Given the description of an element on the screen output the (x, y) to click on. 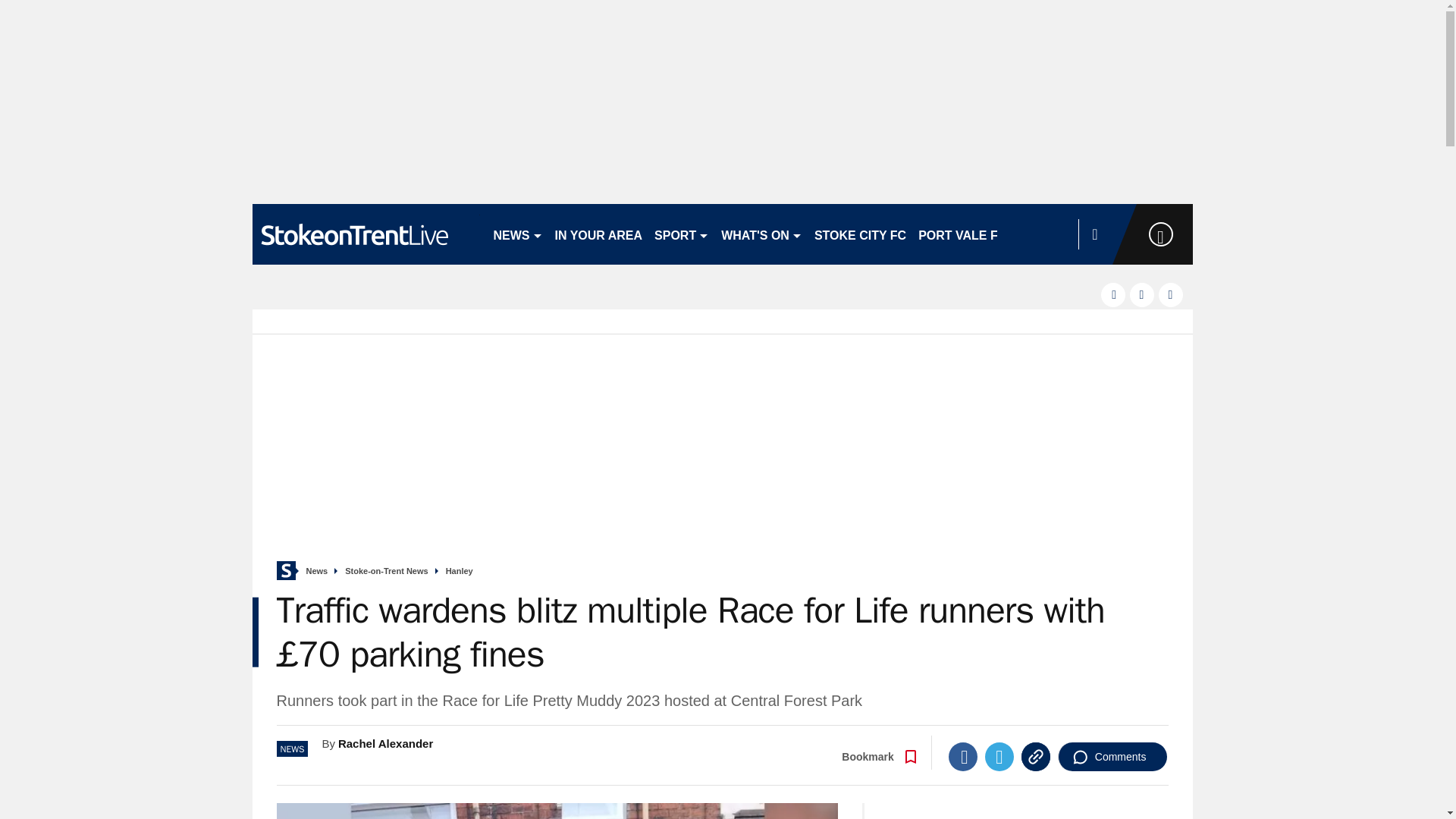
Twitter (999, 756)
WHAT'S ON (761, 233)
instagram (1170, 294)
Facebook (962, 756)
IN YOUR AREA (598, 233)
PORT VALE FC (961, 233)
facebook (1112, 294)
NEWS (517, 233)
Comments (1112, 756)
SPORT (680, 233)
